Given the description of an element on the screen output the (x, y) to click on. 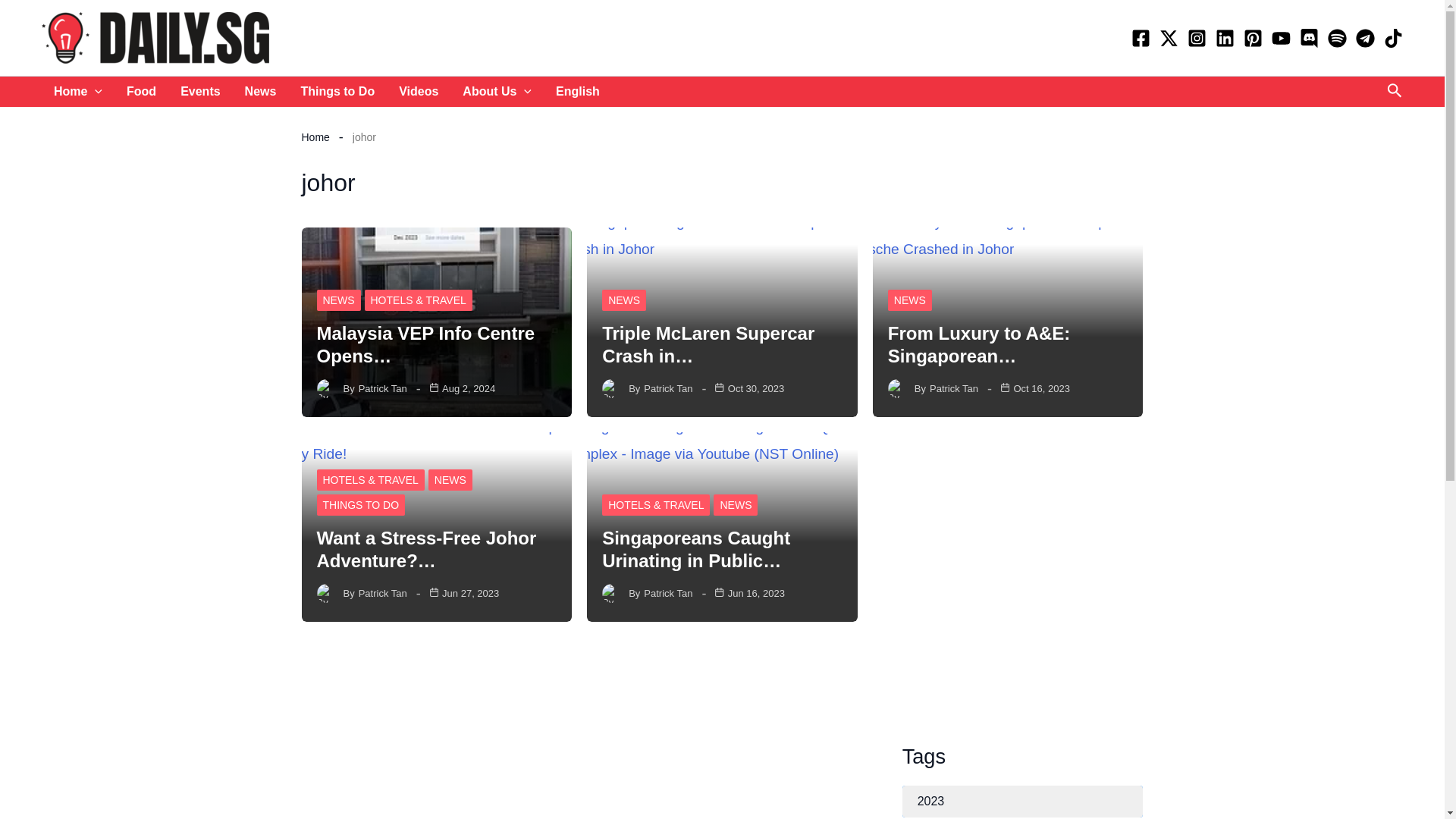
Events (199, 91)
English (577, 91)
About Us (496, 91)
Food (141, 91)
Home (78, 91)
Things to Do (337, 91)
Videos (418, 91)
News (260, 91)
